Given the description of an element on the screen output the (x, y) to click on. 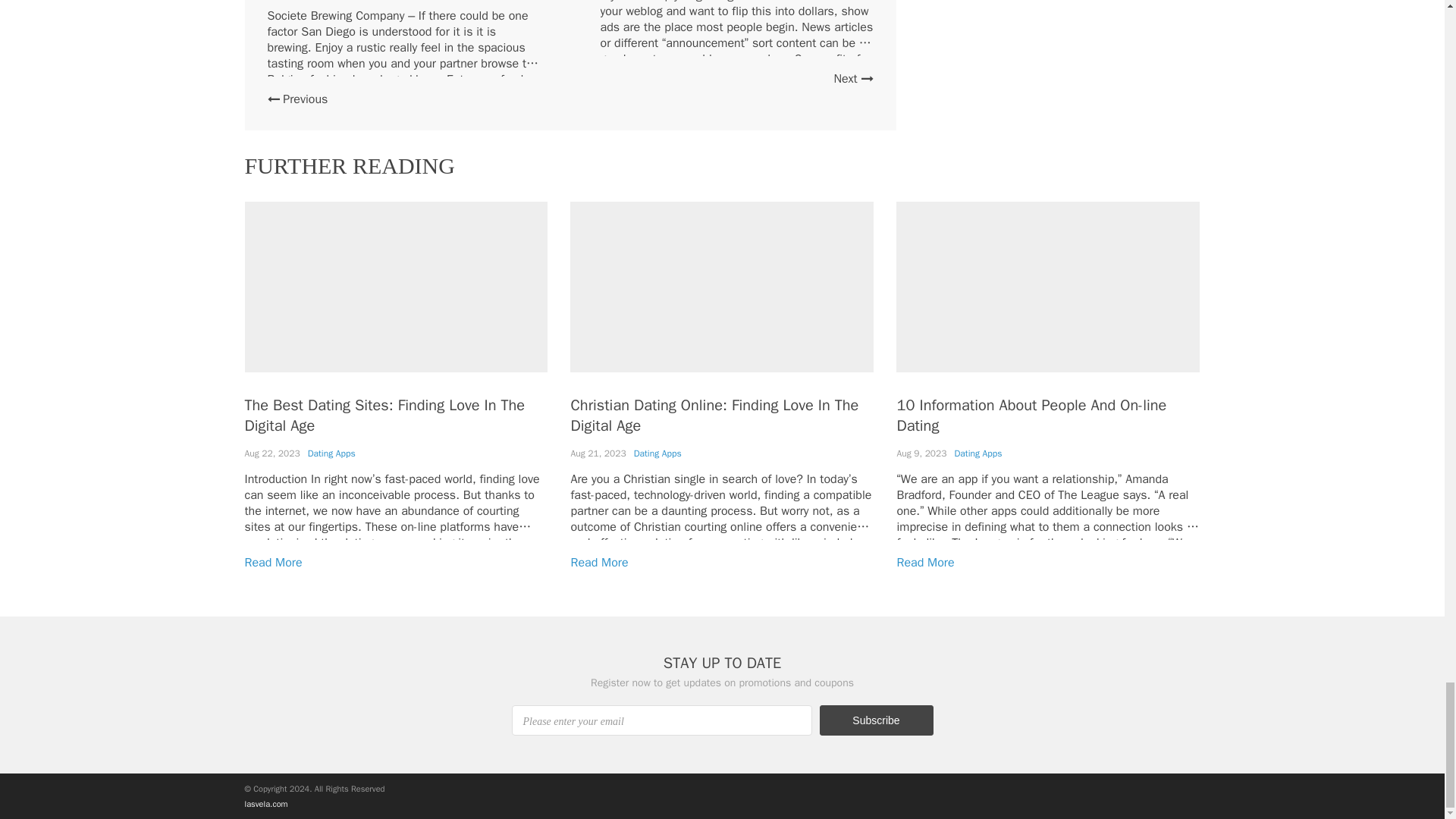
Subscribe (875, 720)
